Given the description of an element on the screen output the (x, y) to click on. 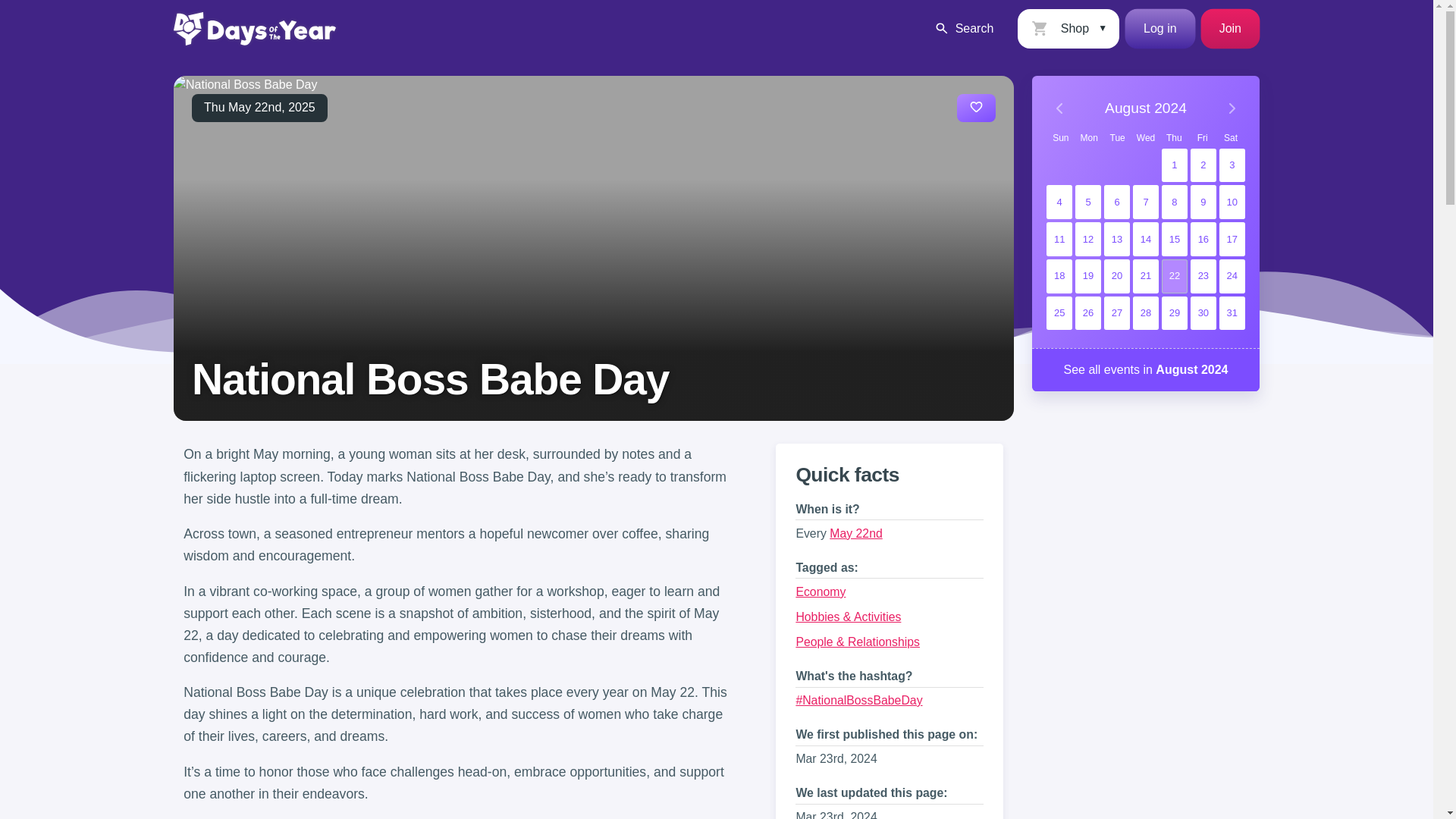
Economy (819, 591)
Log in (1160, 28)
Search (963, 28)
Join (1230, 28)
May 22nd (855, 533)
